Given the description of an element on the screen output the (x, y) to click on. 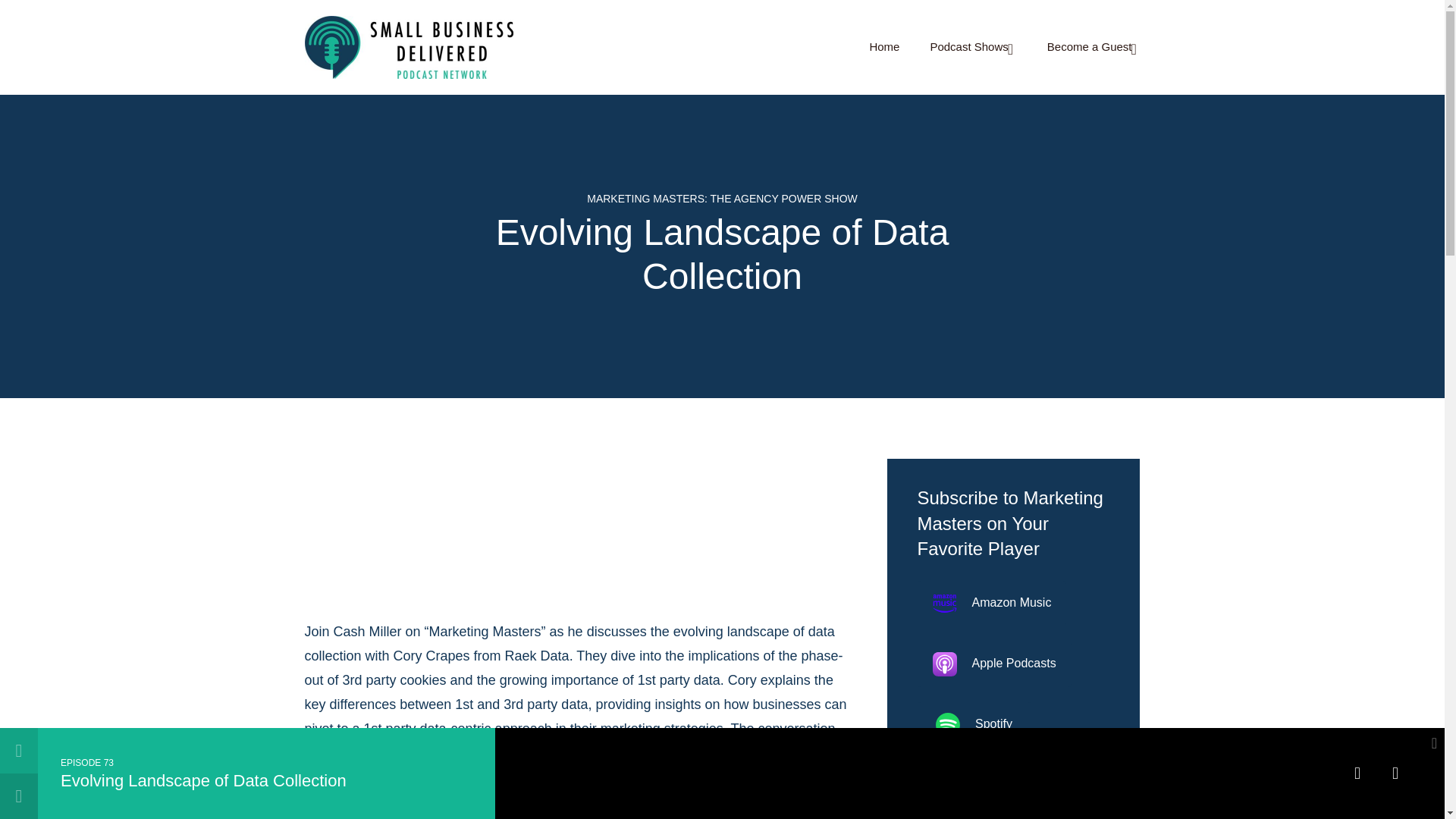
share (1394, 773)
Spotify Embed: First-Party Data Focus: Cory Crapes (907, 773)
Subscribe (1356, 773)
Become a Guest (1093, 47)
Podcast Shows (973, 47)
